Given the description of an element on the screen output the (x, y) to click on. 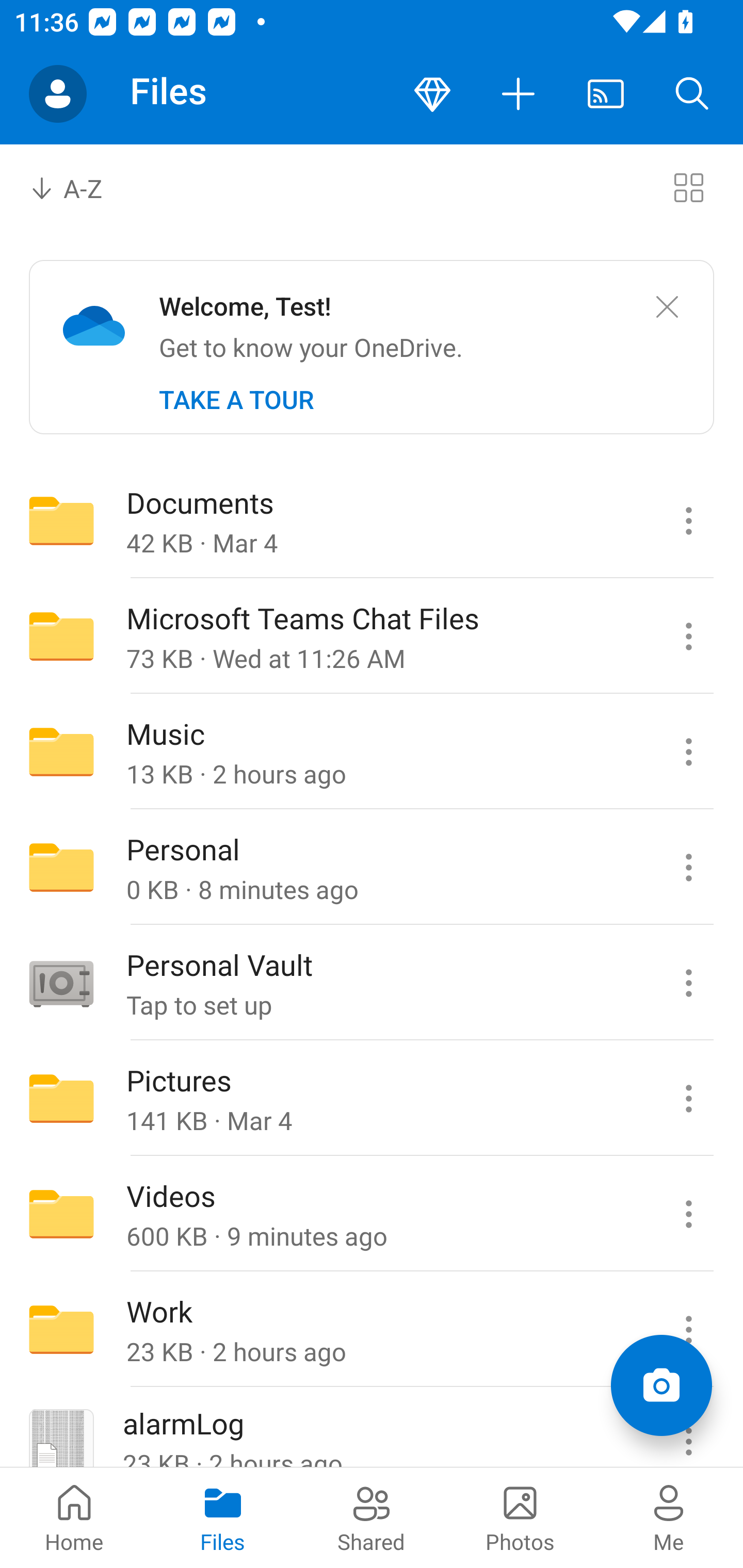
Account switcher (57, 93)
Cast. Disconnected (605, 93)
Premium button (432, 93)
More actions button (518, 93)
Search button (692, 93)
A-Z Sort by combo box, sort by name, A to Z (80, 187)
Switch to tiles view (688, 187)
Close (667, 307)
TAKE A TOUR (236, 399)
Folder Documents 42 KB · Mar 4 Documents commands (371, 520)
Documents commands (688, 520)
Microsoft Teams Chat Files commands (688, 636)
Folder Music 13 KB · 2 hours ago Music commands (371, 751)
Music commands (688, 751)
Personal commands (688, 867)
Personal Vault commands (688, 983)
Folder Pictures 141 KB · Mar 4 Pictures commands (371, 1099)
Pictures commands (688, 1099)
Videos commands (688, 1214)
Folder Work 23 KB · 2 hours ago Work commands (371, 1329)
Work commands (688, 1329)
Add items Scan (660, 1385)
alarmLog commands (688, 1427)
Home pivot Home (74, 1517)
Shared pivot Shared (371, 1517)
Photos pivot Photos (519, 1517)
Me pivot Me (668, 1517)
